Given the description of an element on the screen output the (x, y) to click on. 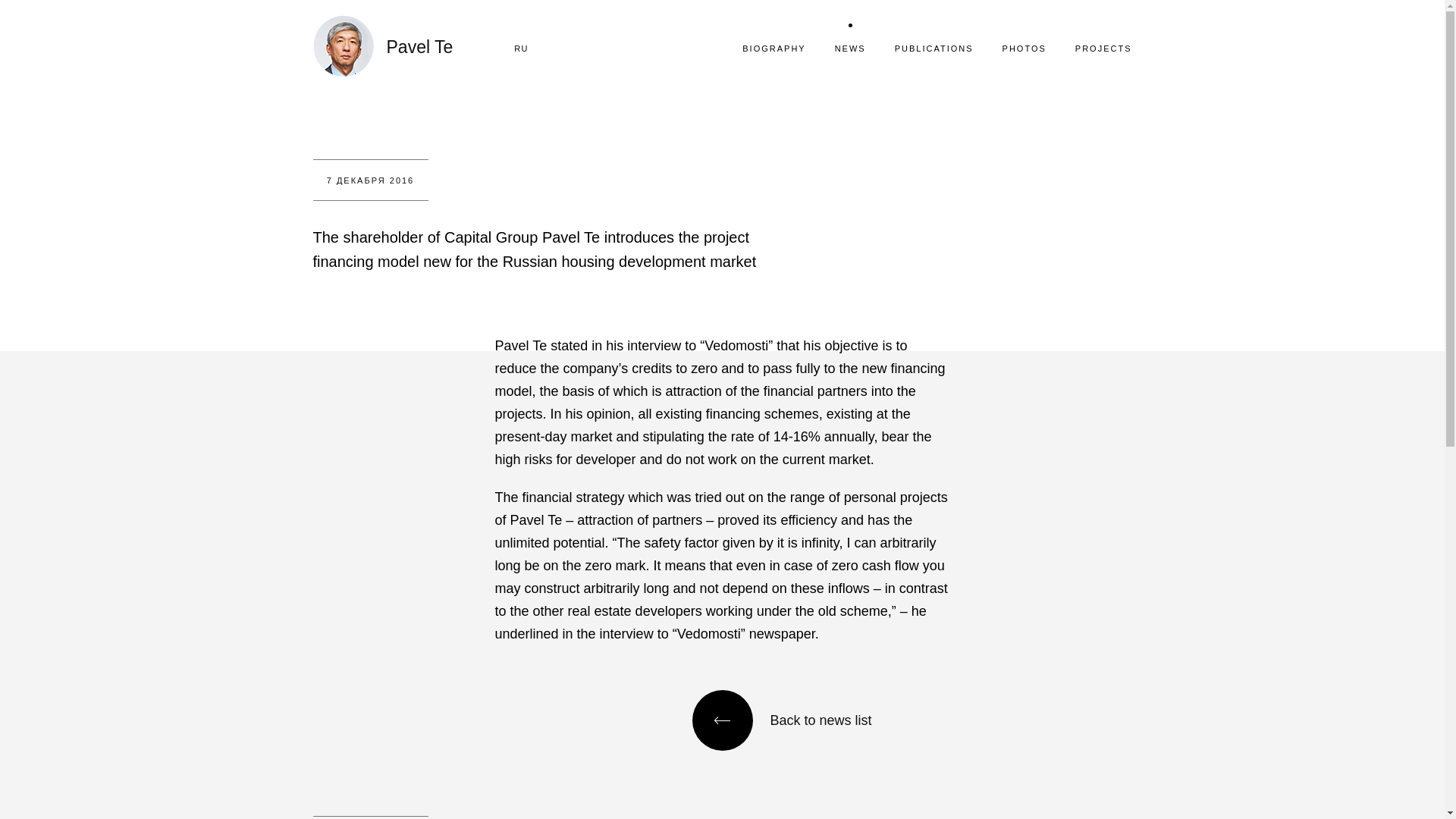
PHOTOS (1024, 49)
NEWS (850, 49)
RU (528, 49)
PROJECTS (1103, 49)
Back to news list (796, 720)
PUBLICATIONS (934, 49)
BIOGRAPHY (773, 49)
Pavel Te (382, 45)
